Given the description of an element on the screen output the (x, y) to click on. 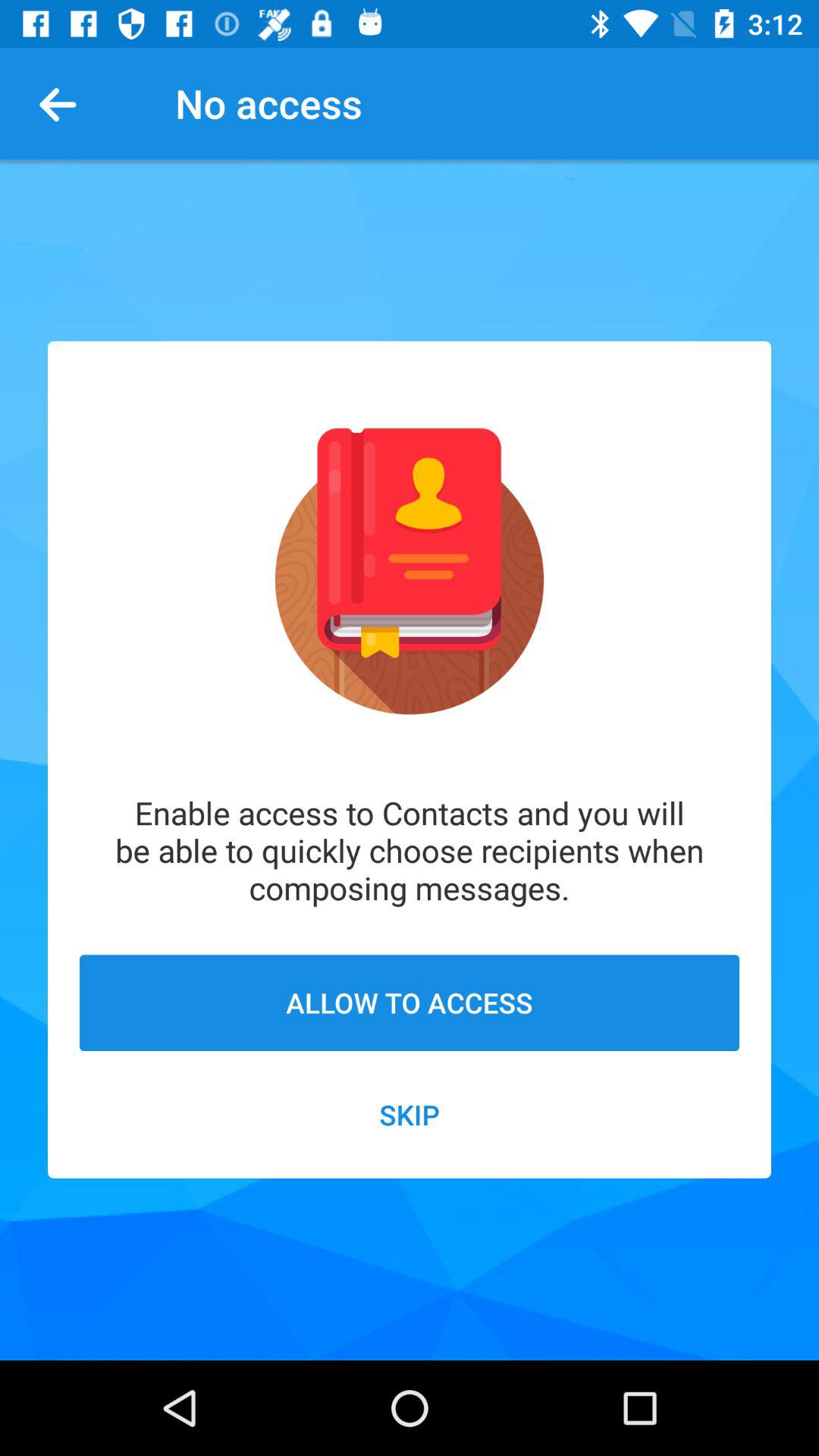
turn on the item next to no access app (63, 103)
